Given the description of an element on the screen output the (x, y) to click on. 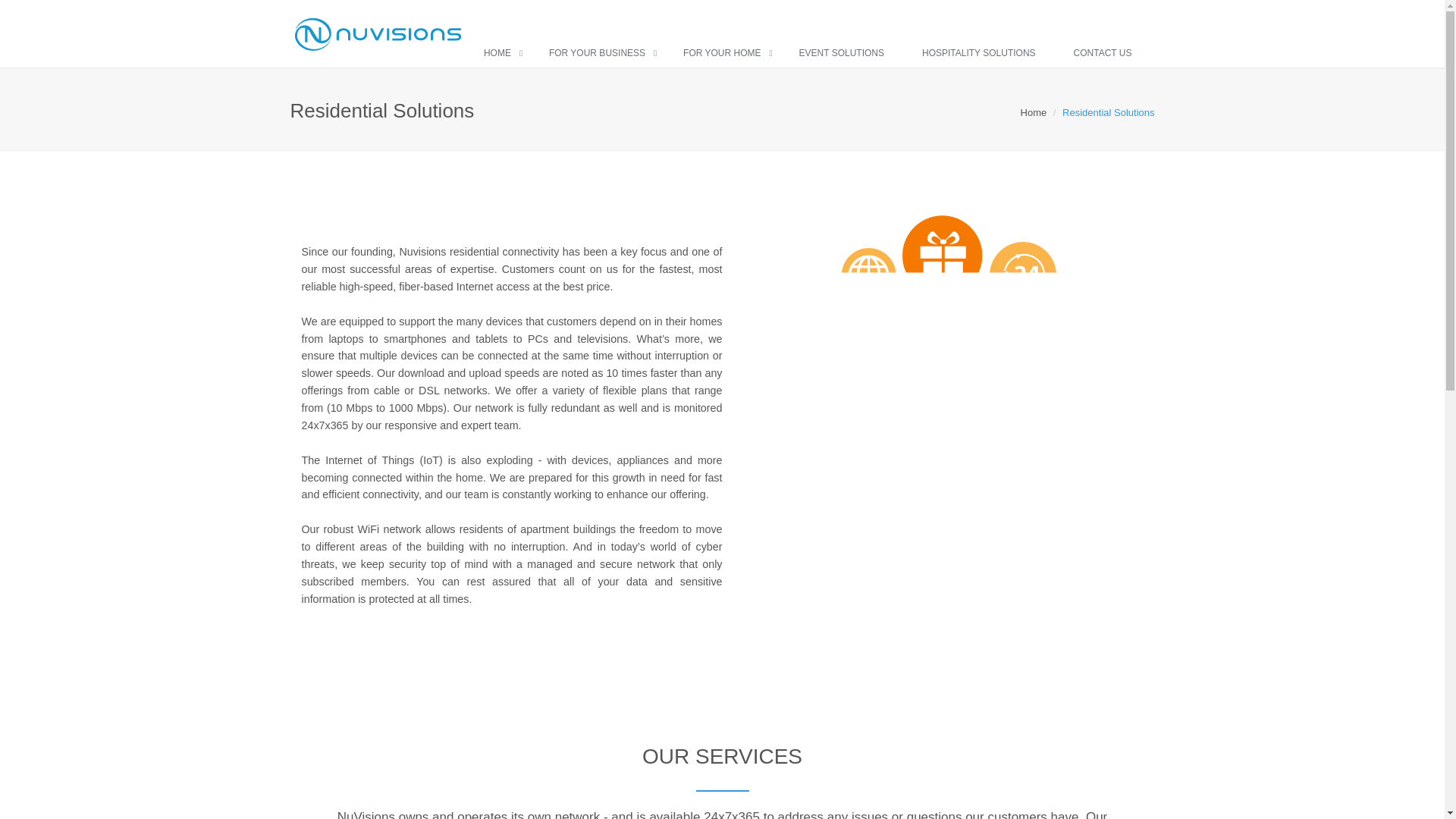
HOME (501, 53)
Home (1033, 112)
CONTACT US (1106, 53)
EVENT SOLUTIONS (845, 53)
FOR YOUR HOME (725, 53)
FOR YOUR BUSINESS (601, 53)
HOSPITALITY SOLUTIONS (982, 53)
